Given the description of an element on the screen output the (x, y) to click on. 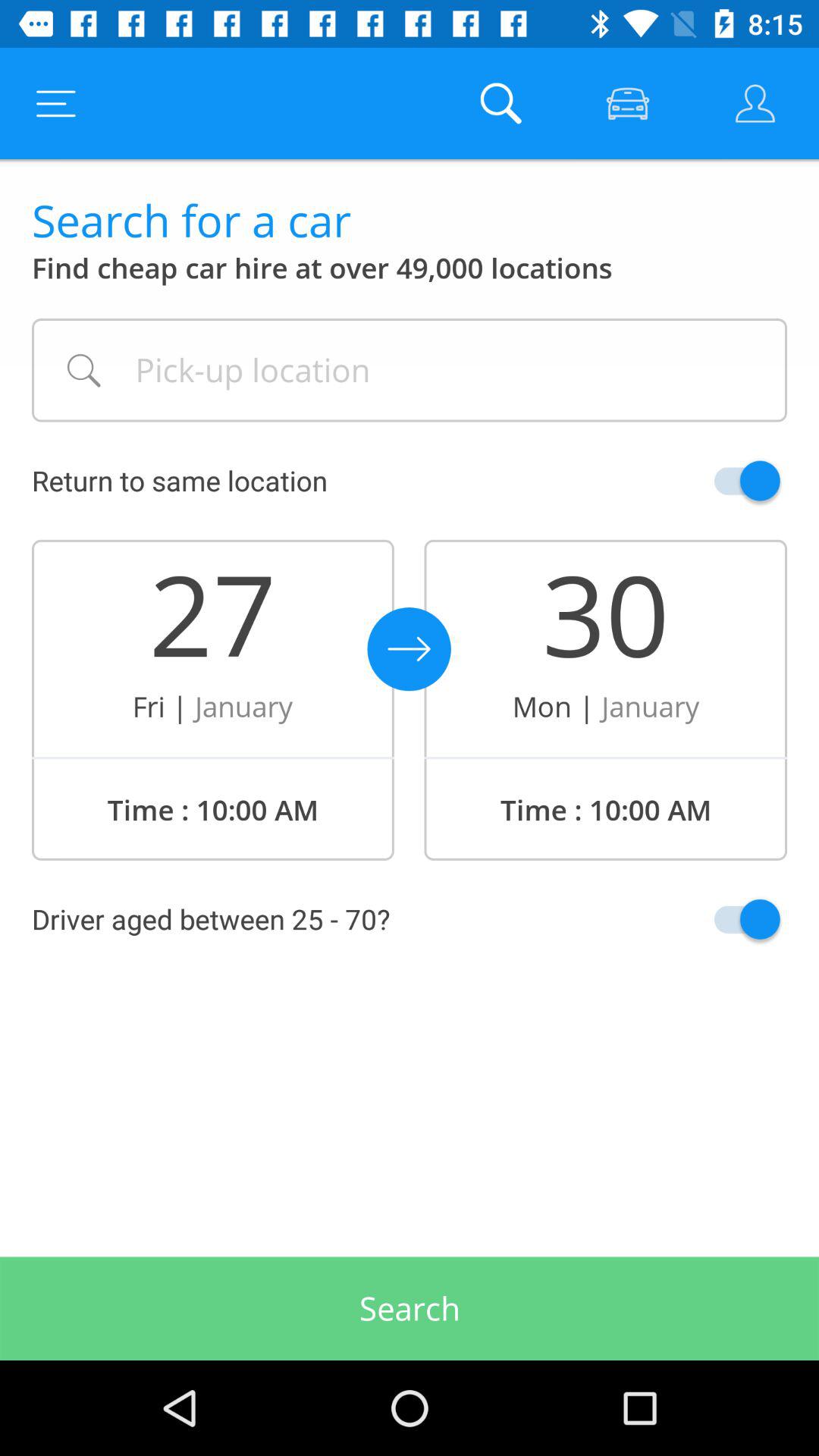
enter pick-up location (409, 370)
